Given the description of an element on the screen output the (x, y) to click on. 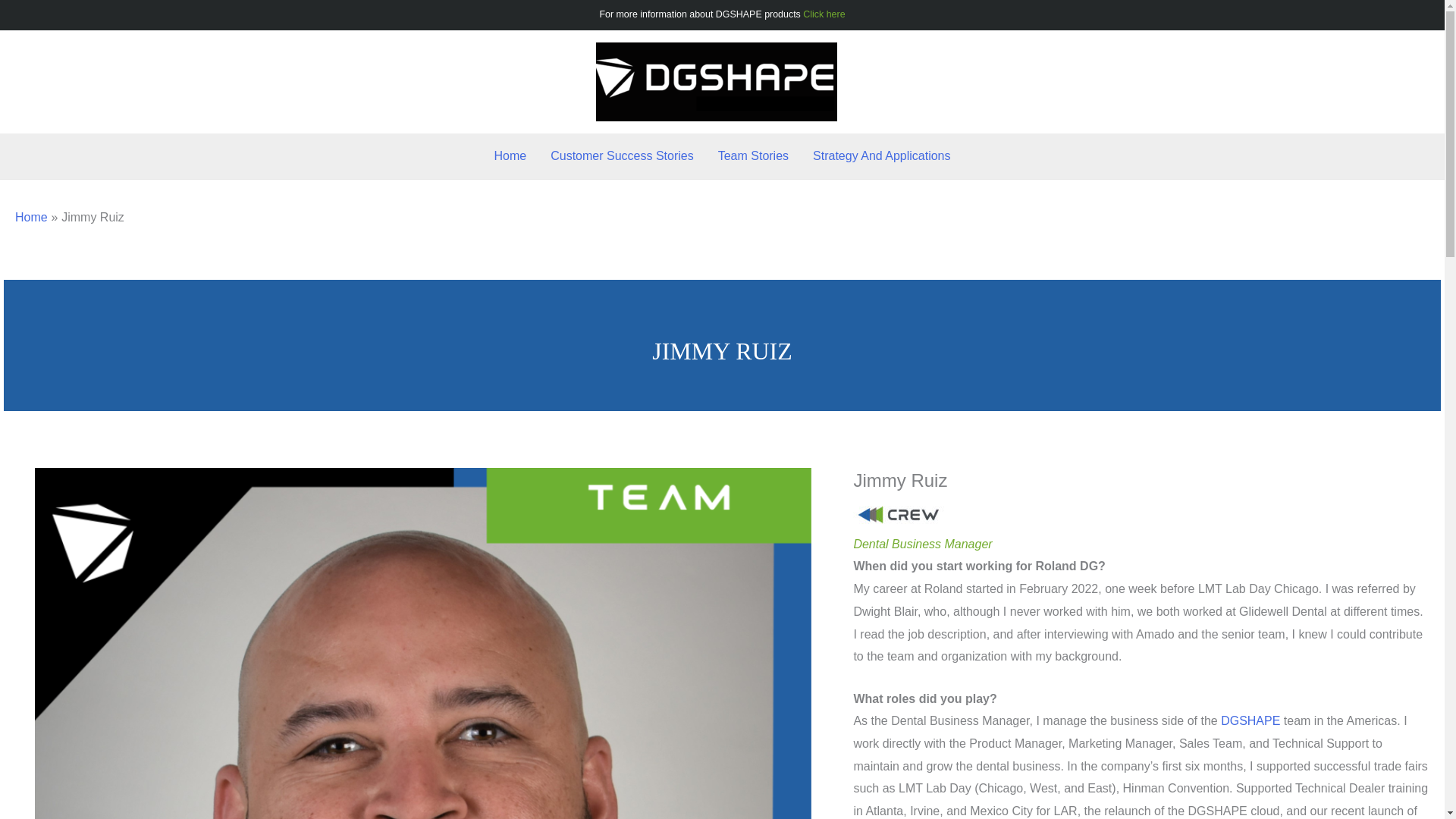
Home (31, 216)
Customer Success Stories (622, 156)
DGSHAPE (1250, 720)
Home (509, 156)
Strategy And Applications (881, 156)
Click here (823, 14)
DGSHAPE Crew - Logo (898, 514)
Team Stories (753, 156)
